Given the description of an element on the screen output the (x, y) to click on. 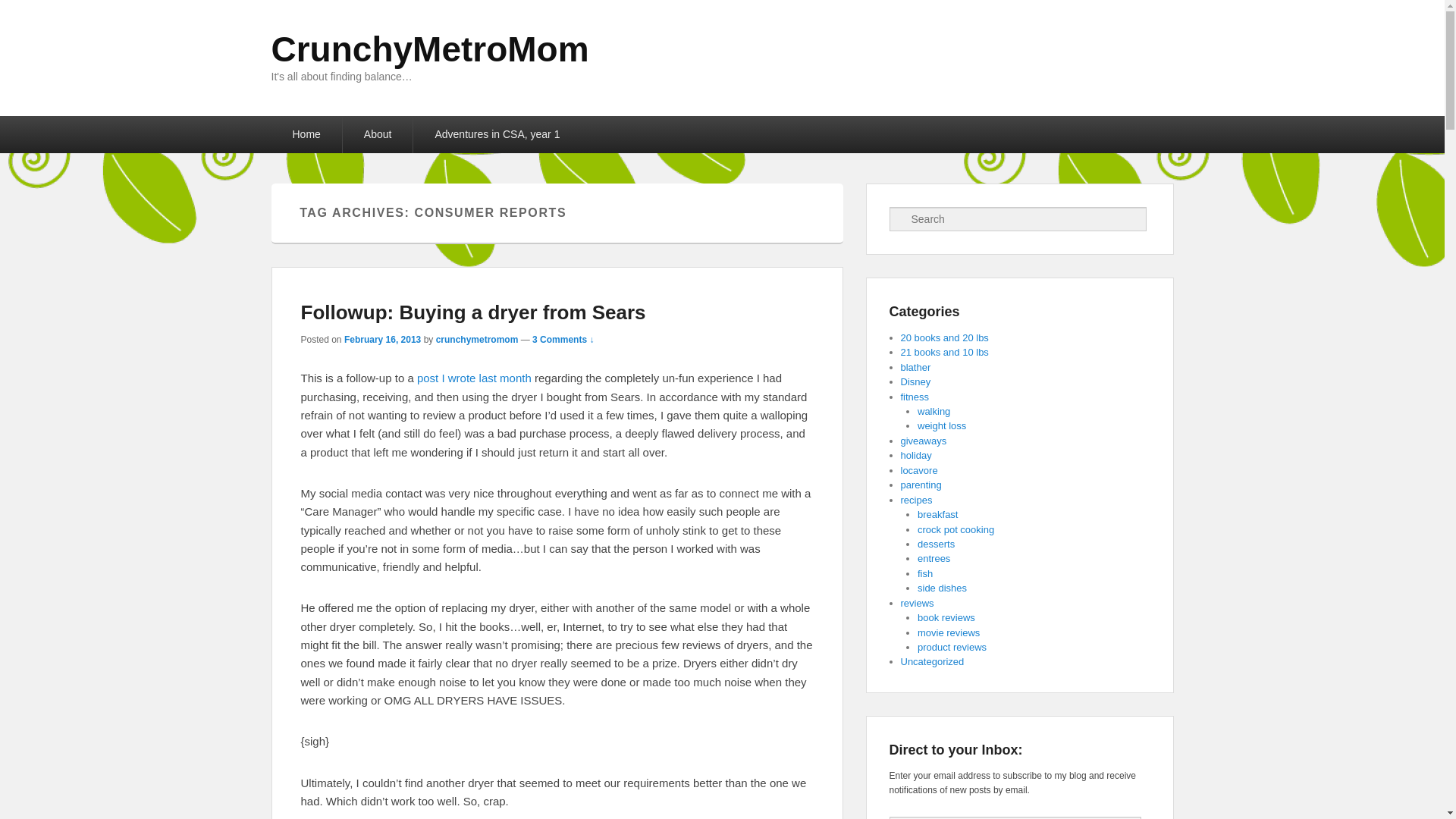
Skip to primary content (58, 125)
February 16, 2013 (381, 339)
3:28 pm (381, 339)
CrunchyMetroMom (429, 48)
Home (306, 134)
crunchymetromom (476, 339)
Skip to secondary content (65, 125)
View all posts by crunchymetromom (476, 339)
Permalink to Followup: Buying a dryer from Sears (472, 312)
Skip to primary content (58, 125)
